Given the description of an element on the screen output the (x, y) to click on. 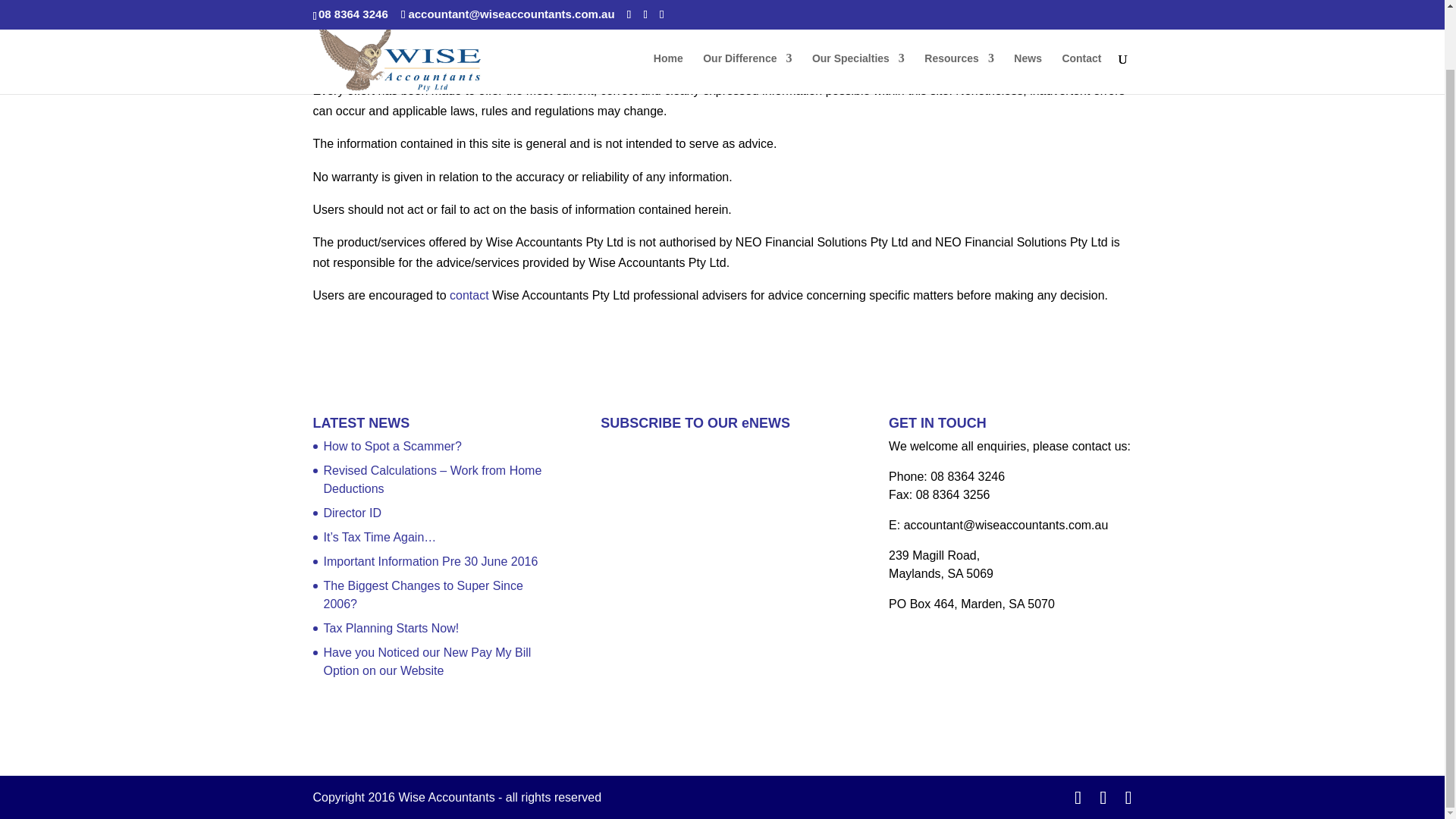
News (1027, 14)
Contact (1080, 14)
Home (667, 14)
Resources (959, 14)
Our Specialties (858, 14)
Our Difference (747, 14)
